Given the description of an element on the screen output the (x, y) to click on. 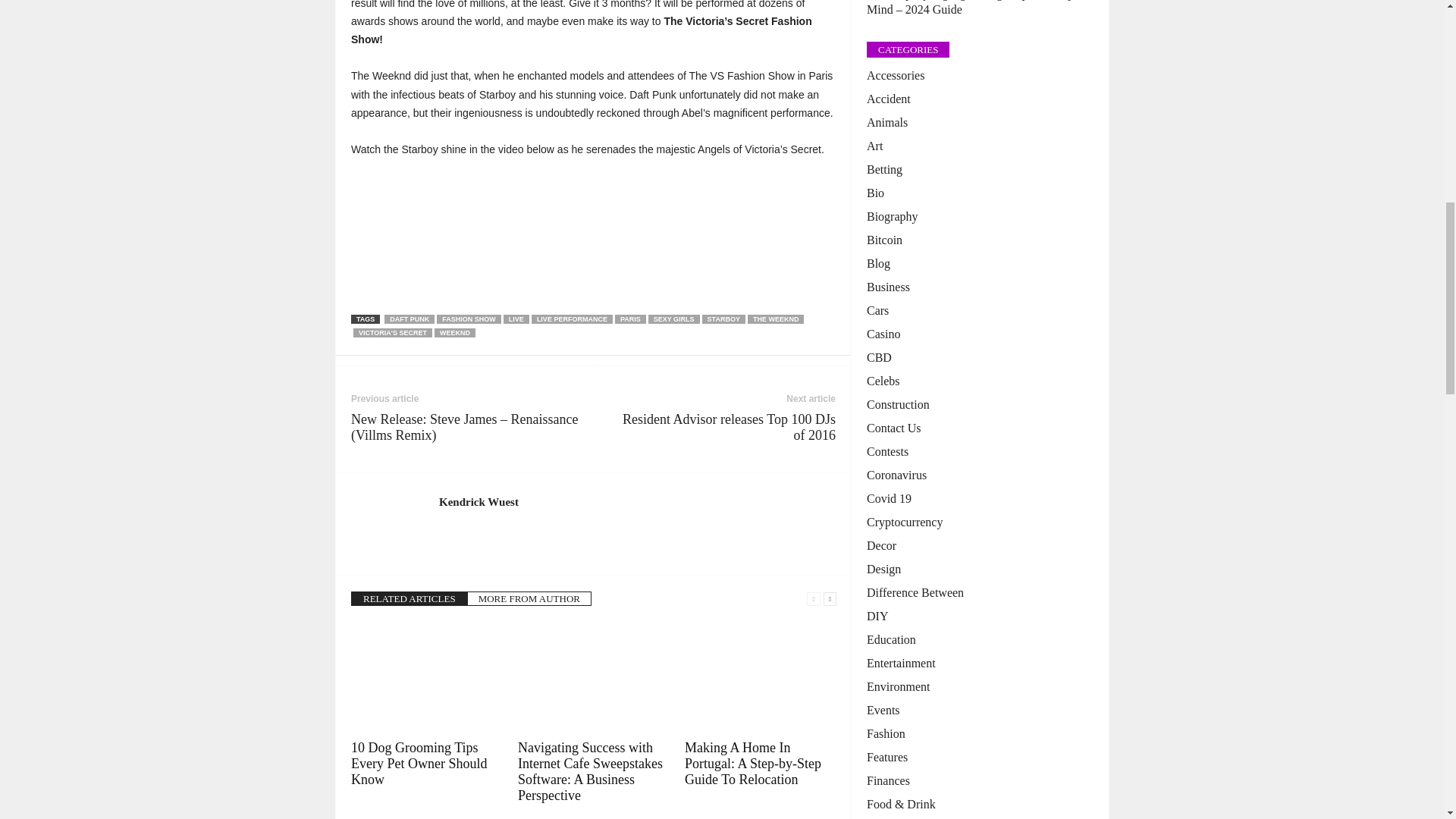
10 Dog Grooming Tips Every Pet Owner Should Know (418, 763)
LIVE PERFORMANCE (571, 318)
PARIS (630, 318)
FASHION SHOW (468, 318)
10 Dog Grooming Tips Every Pet Owner Should Know (426, 678)
DAFT PUNK (408, 318)
SEXY GIRLS (673, 318)
LIVE (516, 318)
STARBOY (723, 318)
THE WEEKND (776, 318)
VICTORIA'S SECRET (392, 332)
